Given the description of an element on the screen output the (x, y) to click on. 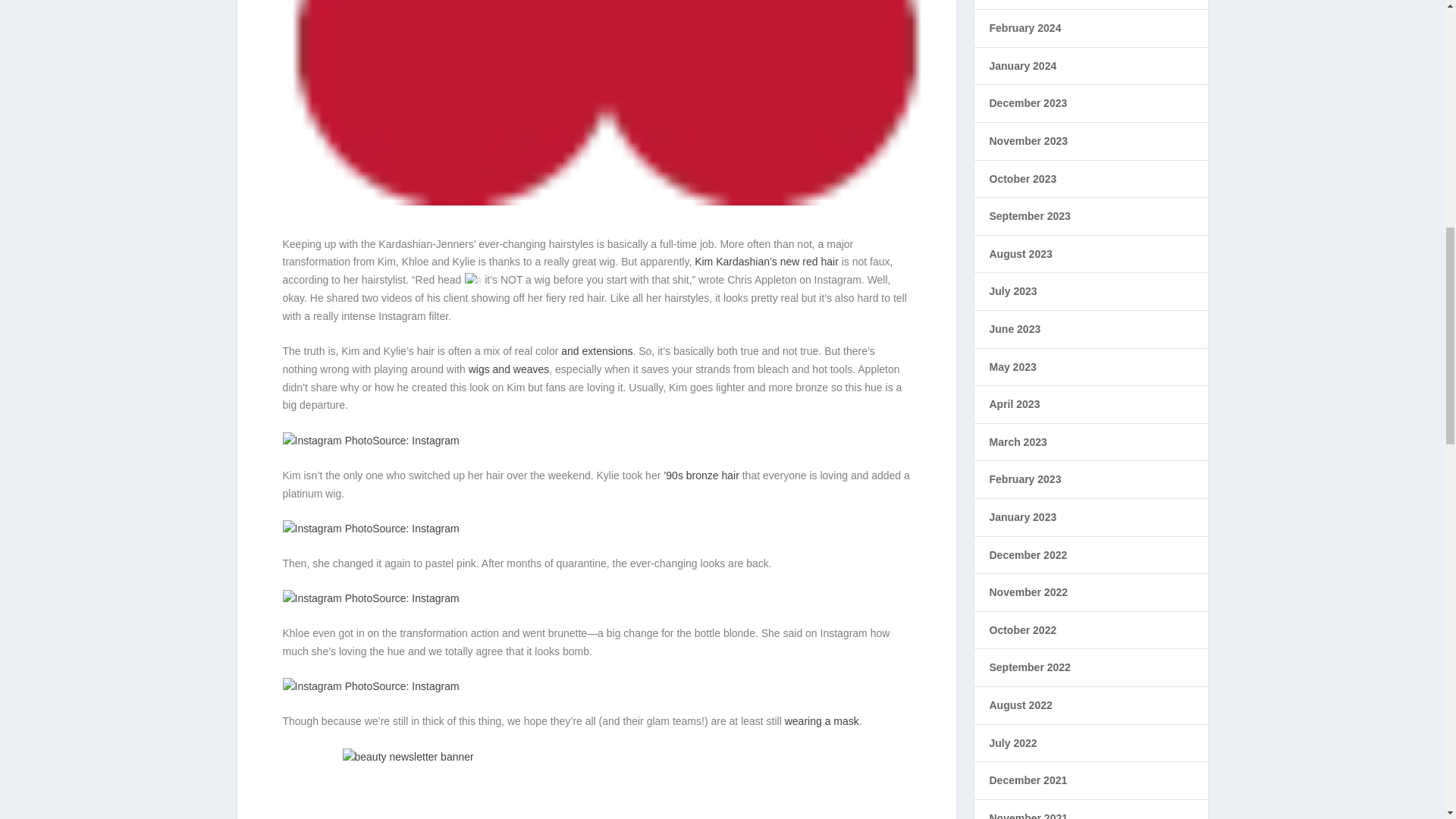
wearing a mask (821, 720)
Source: Instagram (370, 598)
and extensions (595, 350)
Source: Instagram (370, 440)
Instagram Photo (327, 529)
Instagram Photo (327, 441)
Source: Instagram (370, 686)
wigs and weaves (509, 369)
Instagram Photo (327, 598)
Source: Instagram (370, 528)
